Given the description of an element on the screen output the (x, y) to click on. 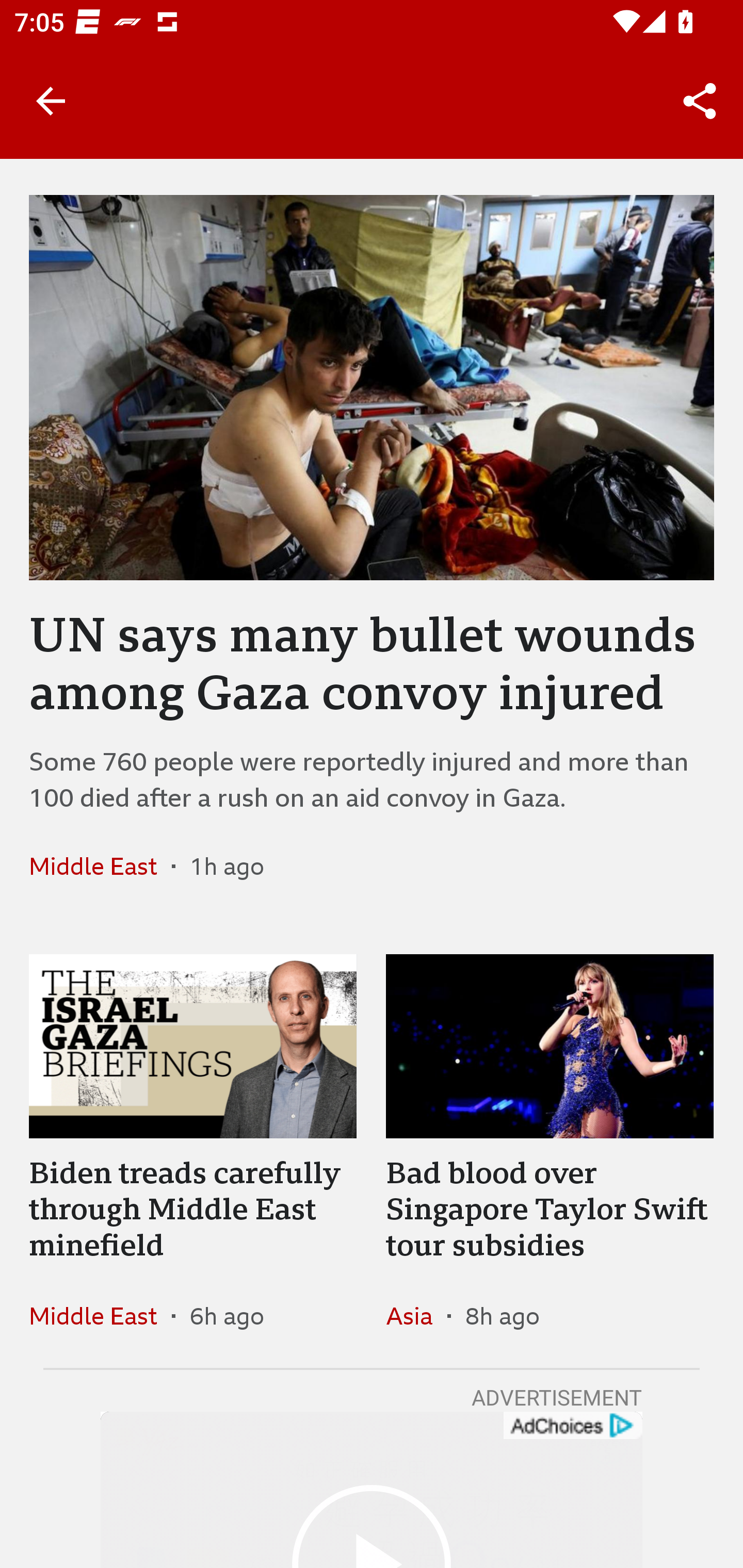
Back (50, 101)
Share (699, 101)
Middle East In the section Middle East (99, 865)
Middle East In the section Middle East (99, 1315)
Asia In the section Asia (416, 1315)
Video Player get?name=admarker-full-tl   (371, 1489)
get?name=admarker-full-tl (571, 1425)
